Given the description of an element on the screen output the (x, y) to click on. 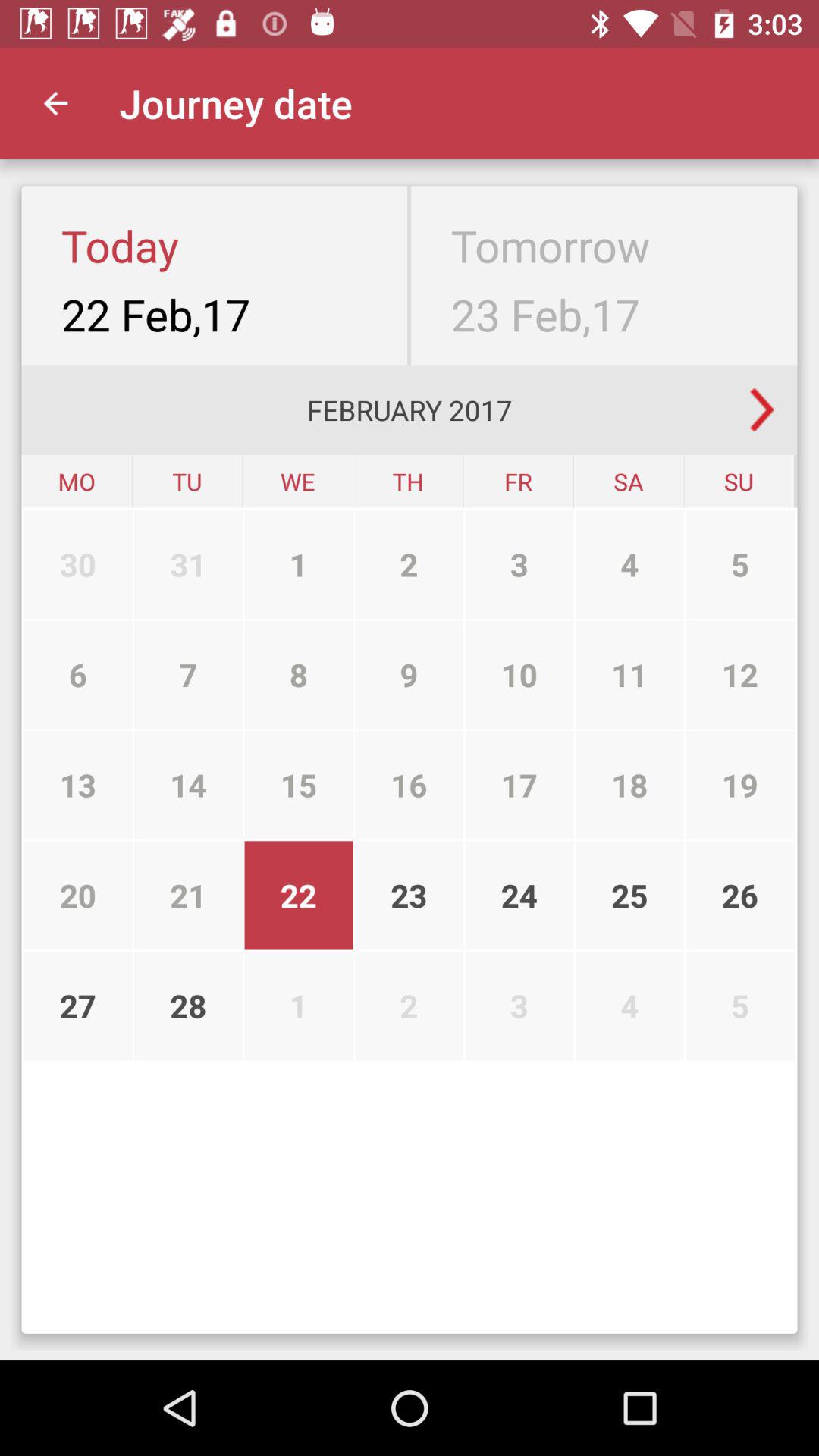
press item below 6 item (77, 784)
